Given the description of an element on the screen output the (x, y) to click on. 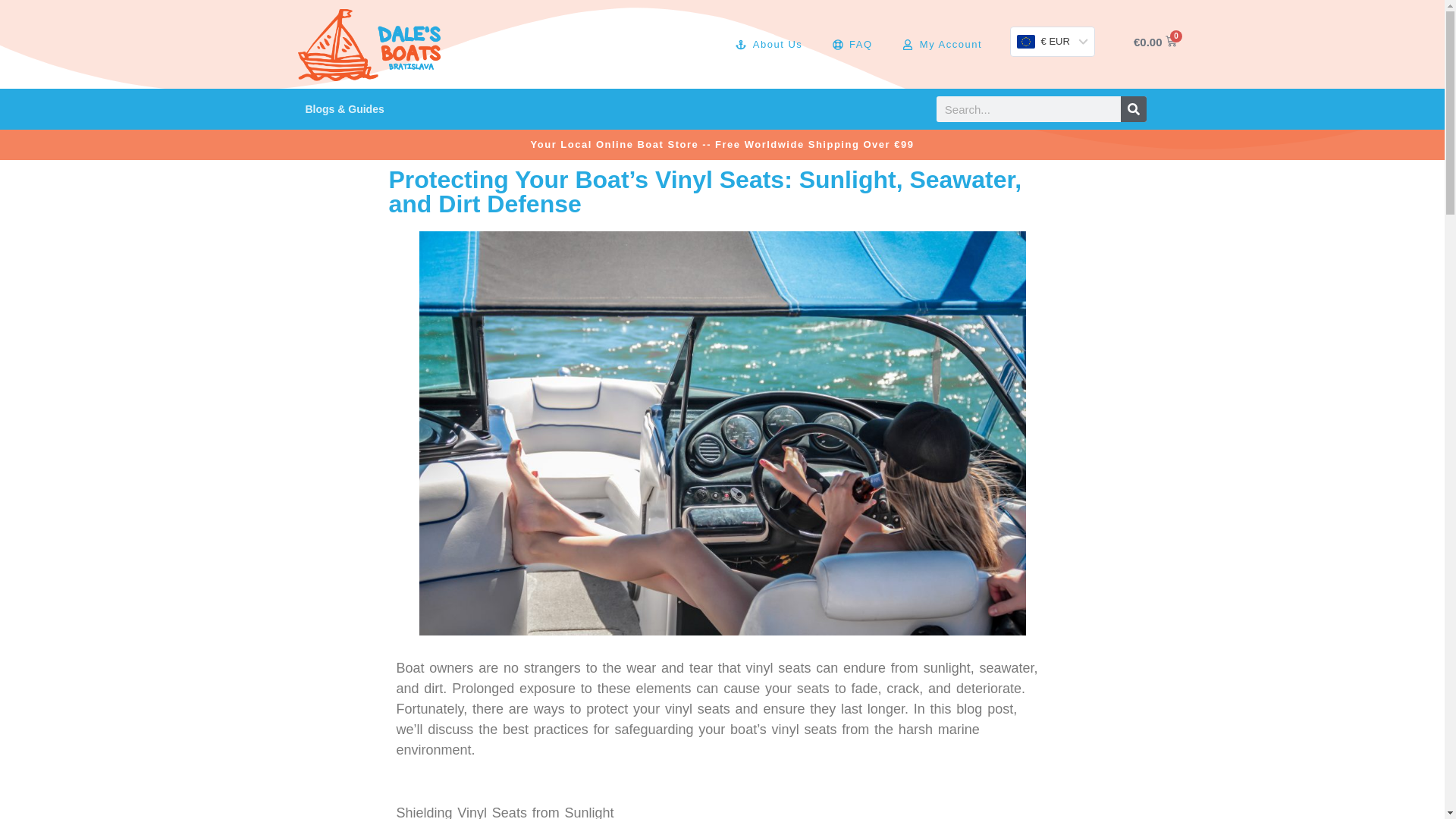
FAQ (852, 44)
My Account (942, 44)
HorizontalLogoTrans (369, 45)
About Us (768, 44)
